Given the description of an element on the screen output the (x, y) to click on. 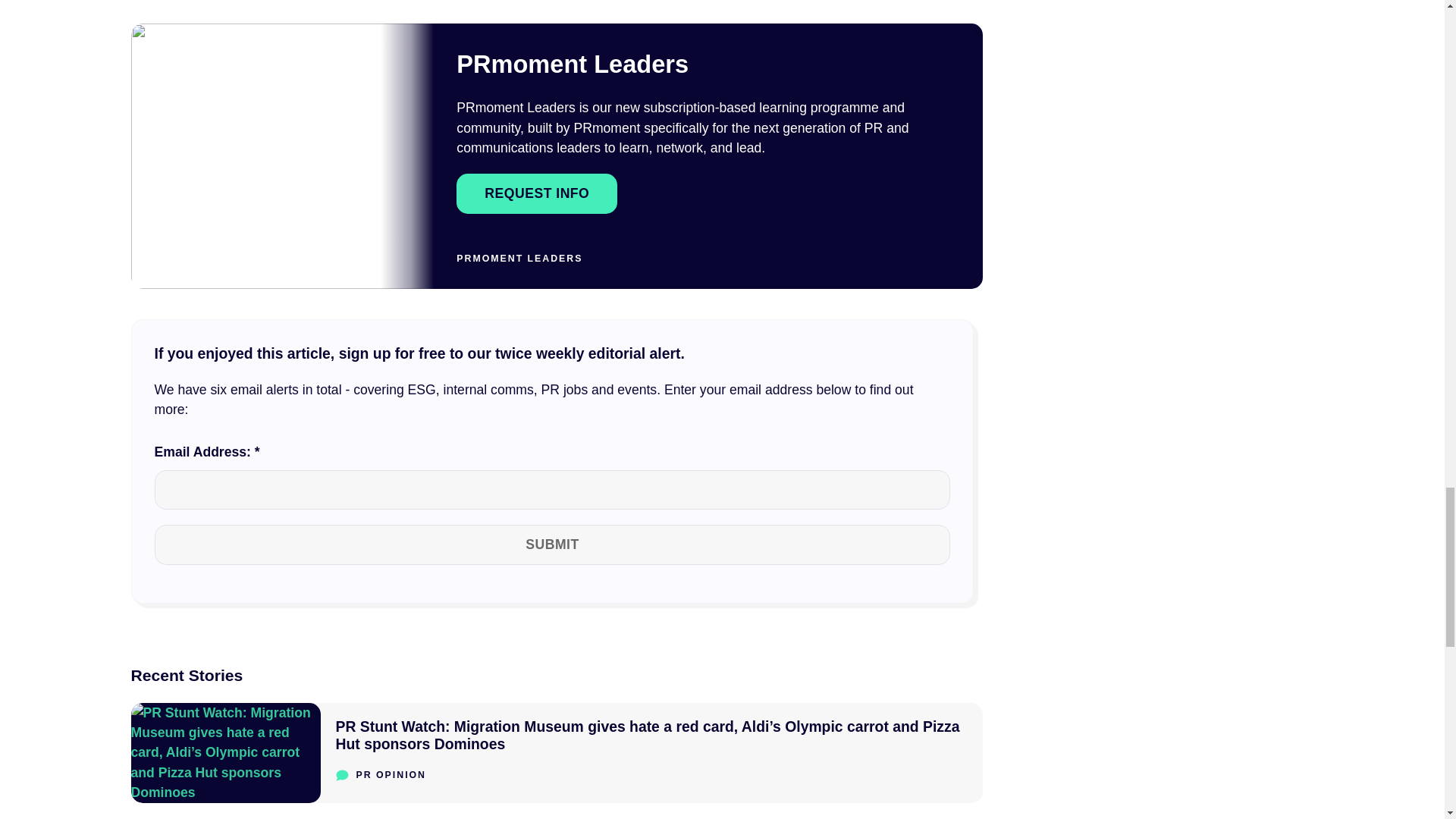
REQUEST INFO (537, 193)
SUBMIT (552, 544)
SUBMIT (552, 544)
